Given the description of an element on the screen output the (x, y) to click on. 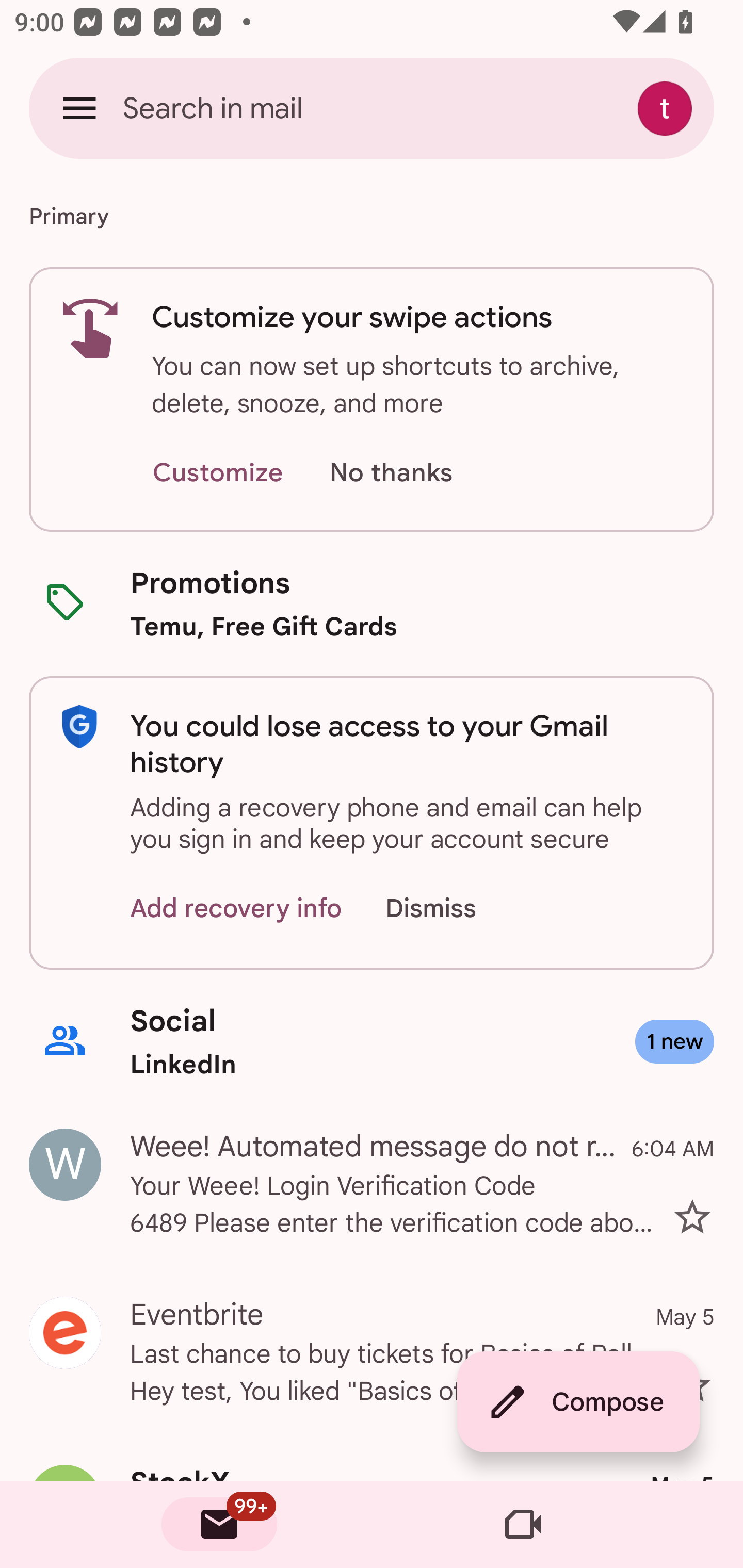
Open navigation drawer (79, 108)
Customize (217, 473)
No thanks (390, 473)
Promotions Temu, Free Gift Cards (371, 603)
Add recovery info (235, 908)
Dismiss (449, 908)
Social LinkedIn 1 new (371, 1041)
Compose (577, 1401)
Meet (523, 1524)
